Given the description of an element on the screen output the (x, y) to click on. 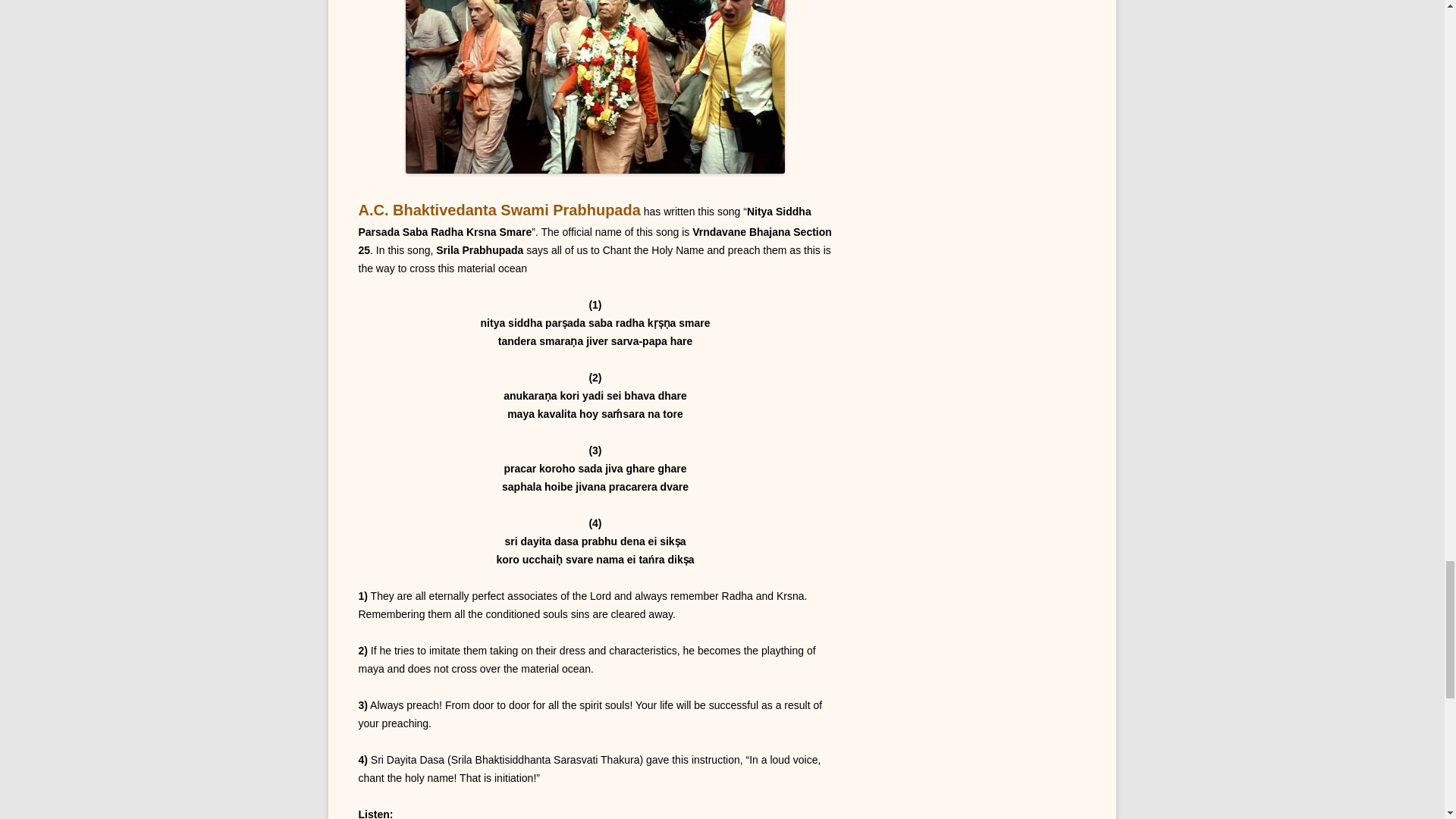
A.C. Bhaktivedanta Swami Prabhupada (499, 209)
